Given the description of an element on the screen output the (x, y) to click on. 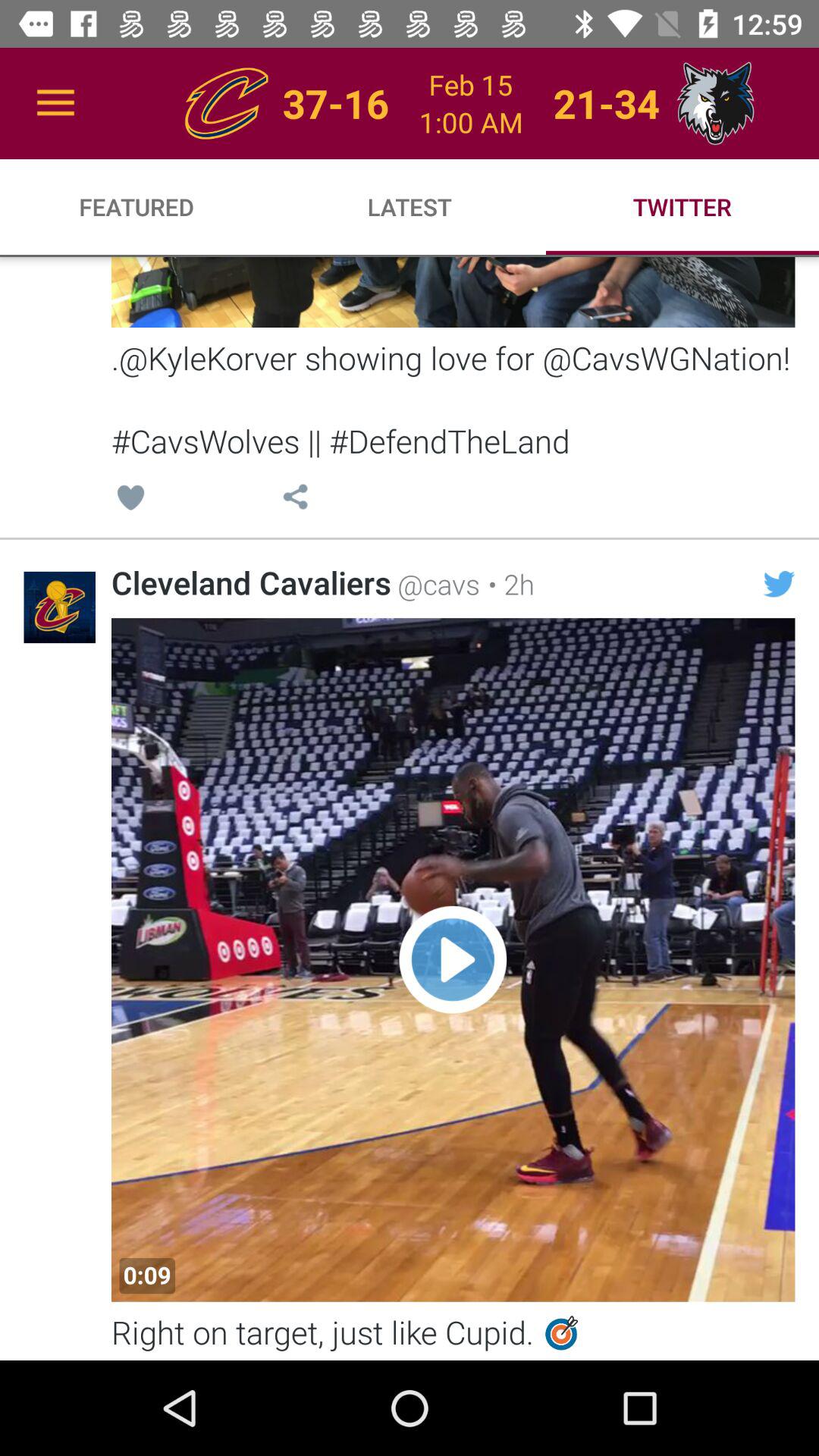
turn on item next to the @cavs (251, 582)
